Given the description of an element on the screen output the (x, y) to click on. 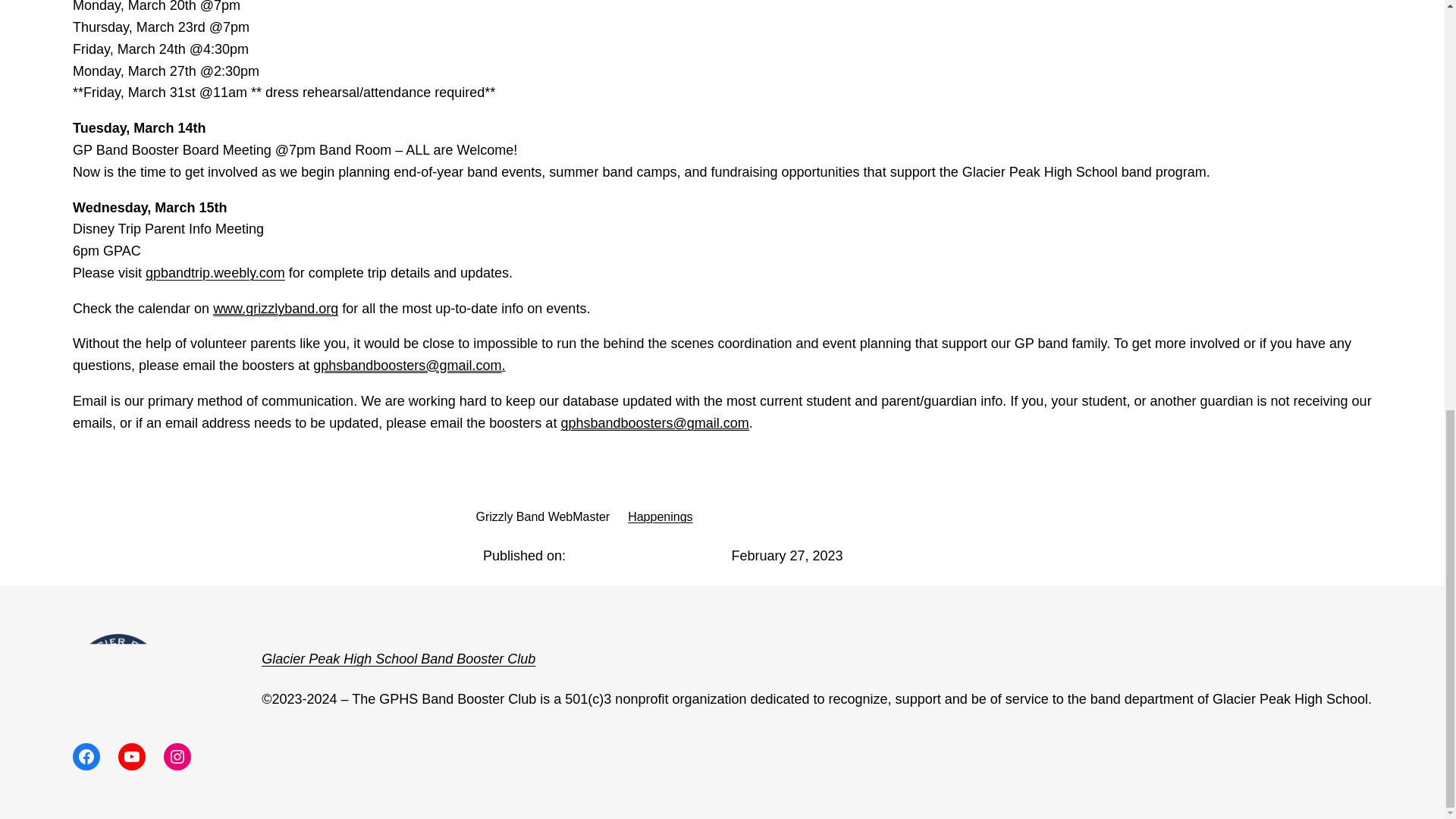
Happenings (660, 516)
Facebook (86, 756)
Instagram (176, 756)
gpbandtrip.weebly.com (215, 272)
www.grizzlyband.org (274, 308)
YouTube (131, 756)
Glacier Peak High School Band Booster Club (398, 658)
